Given the description of an element on the screen output the (x, y) to click on. 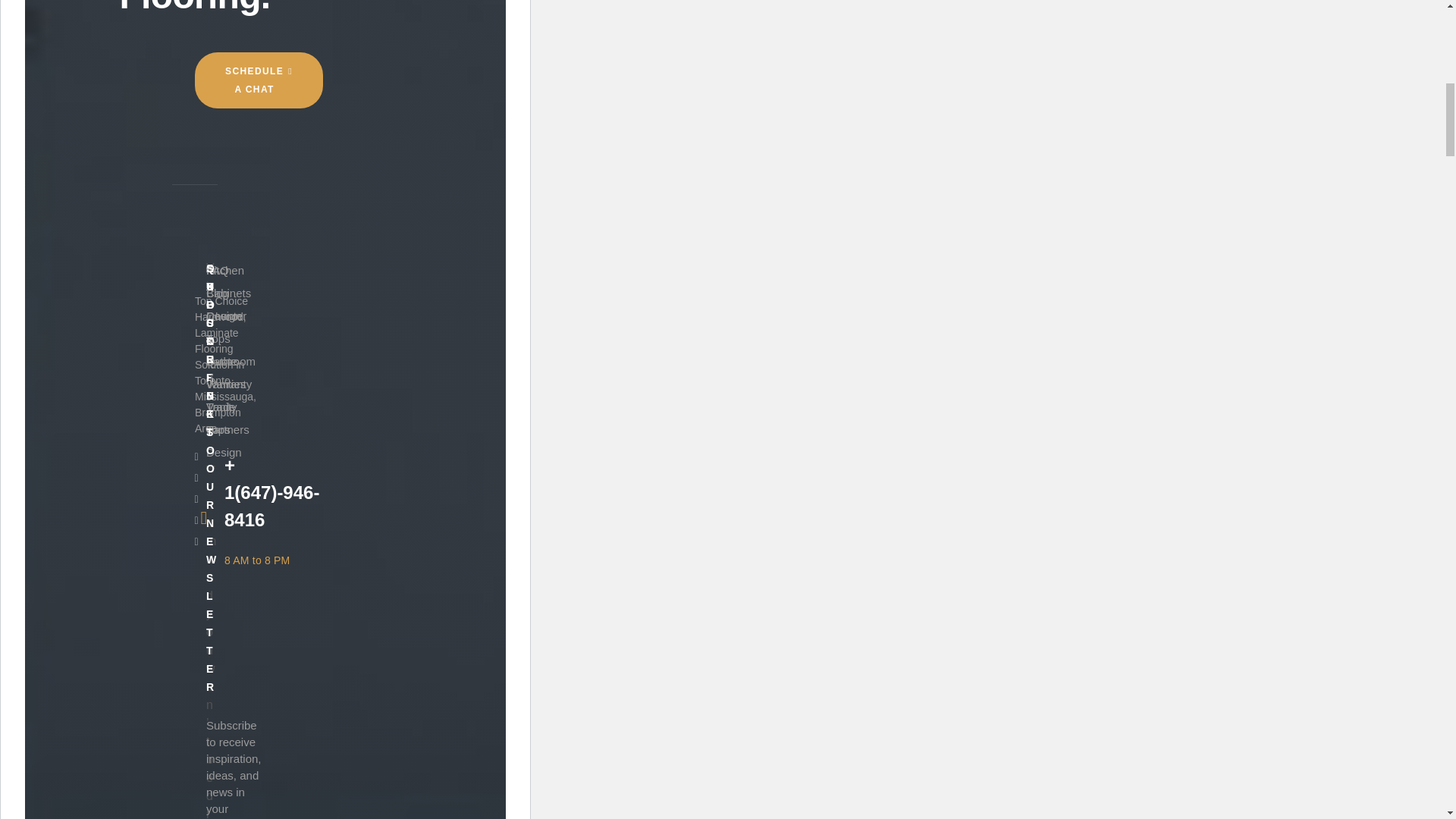
Engineered wood benefits (285, 220)
Design (331, 186)
All about Engineered wood flooring (305, 120)
buy hardwood (417, 153)
Interior (244, 353)
hardwood protection tips (282, 320)
A guide to Laminate flooring (290, 86)
bamboo flooring (448, 120)
Benefits of Laminate flooring (291, 153)
hardwood flooring guide (427, 220)
